Given the description of an element on the screen output the (x, y) to click on. 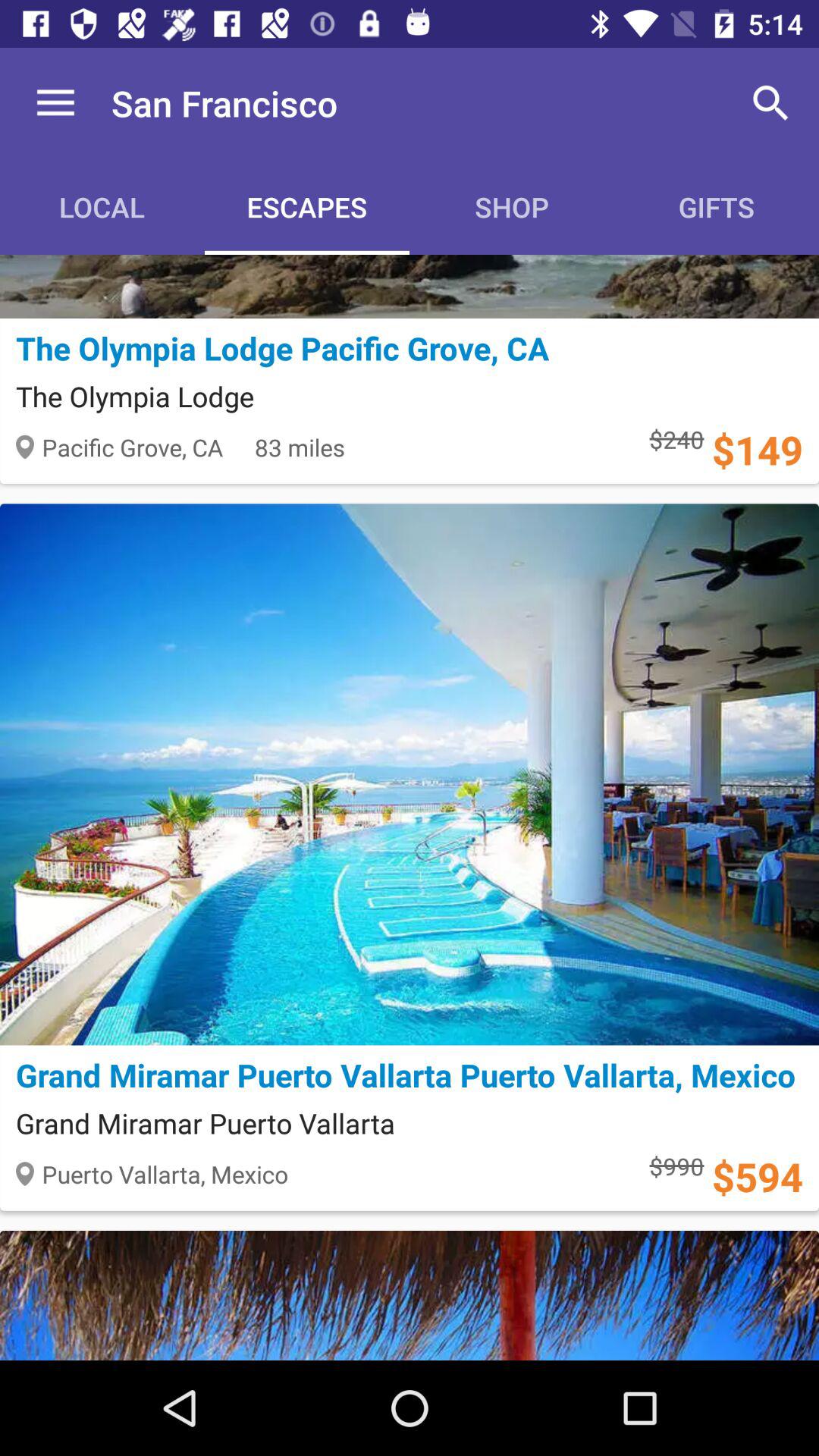
click the icon above the local icon (55, 103)
